Given the description of an element on the screen output the (x, y) to click on. 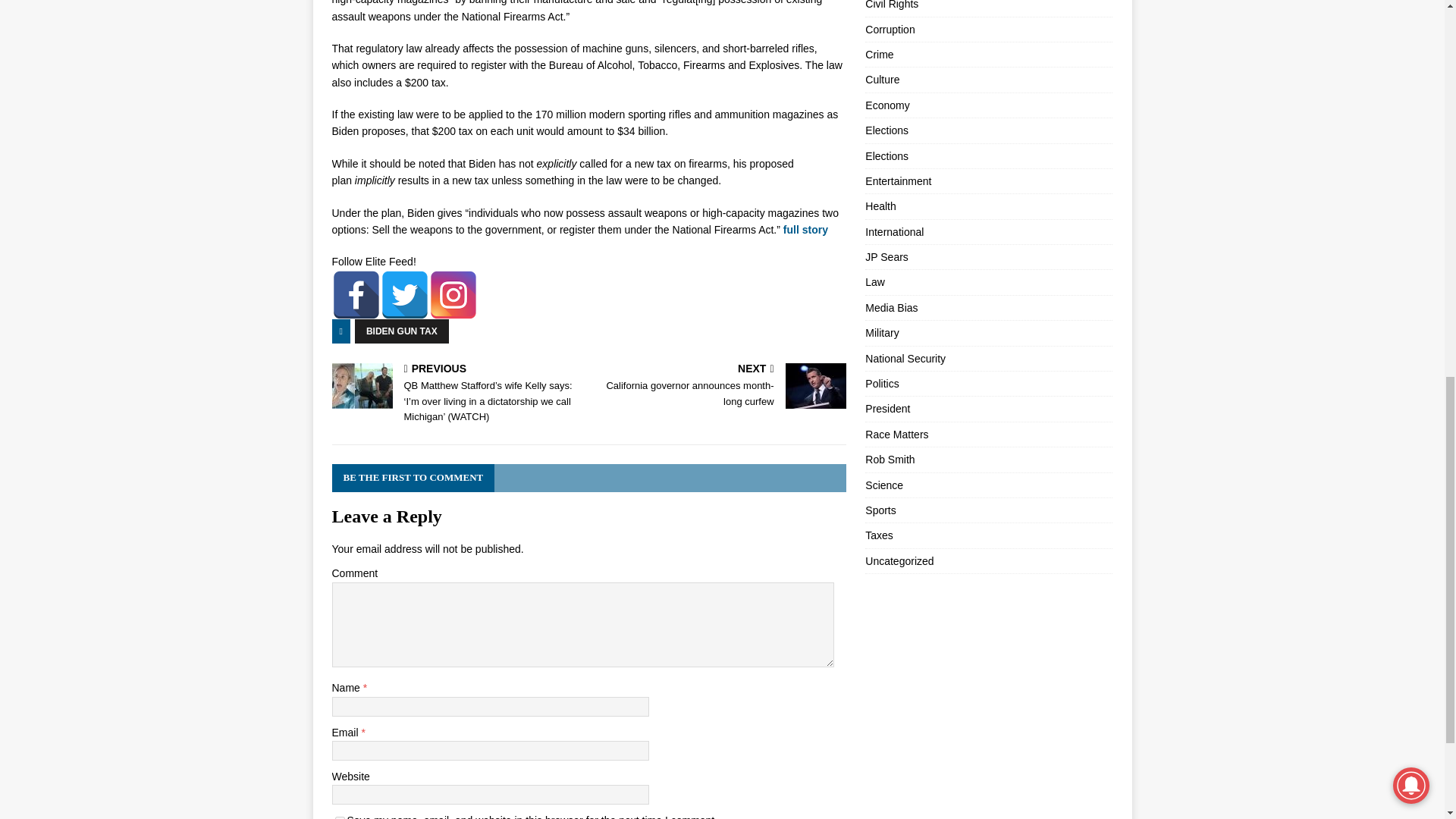
full story (805, 229)
BIDEN GUN TAX (401, 331)
Facebook (355, 295)
Instagram (453, 295)
Twitter (404, 295)
yes (720, 386)
